Given the description of an element on the screen output the (x, y) to click on. 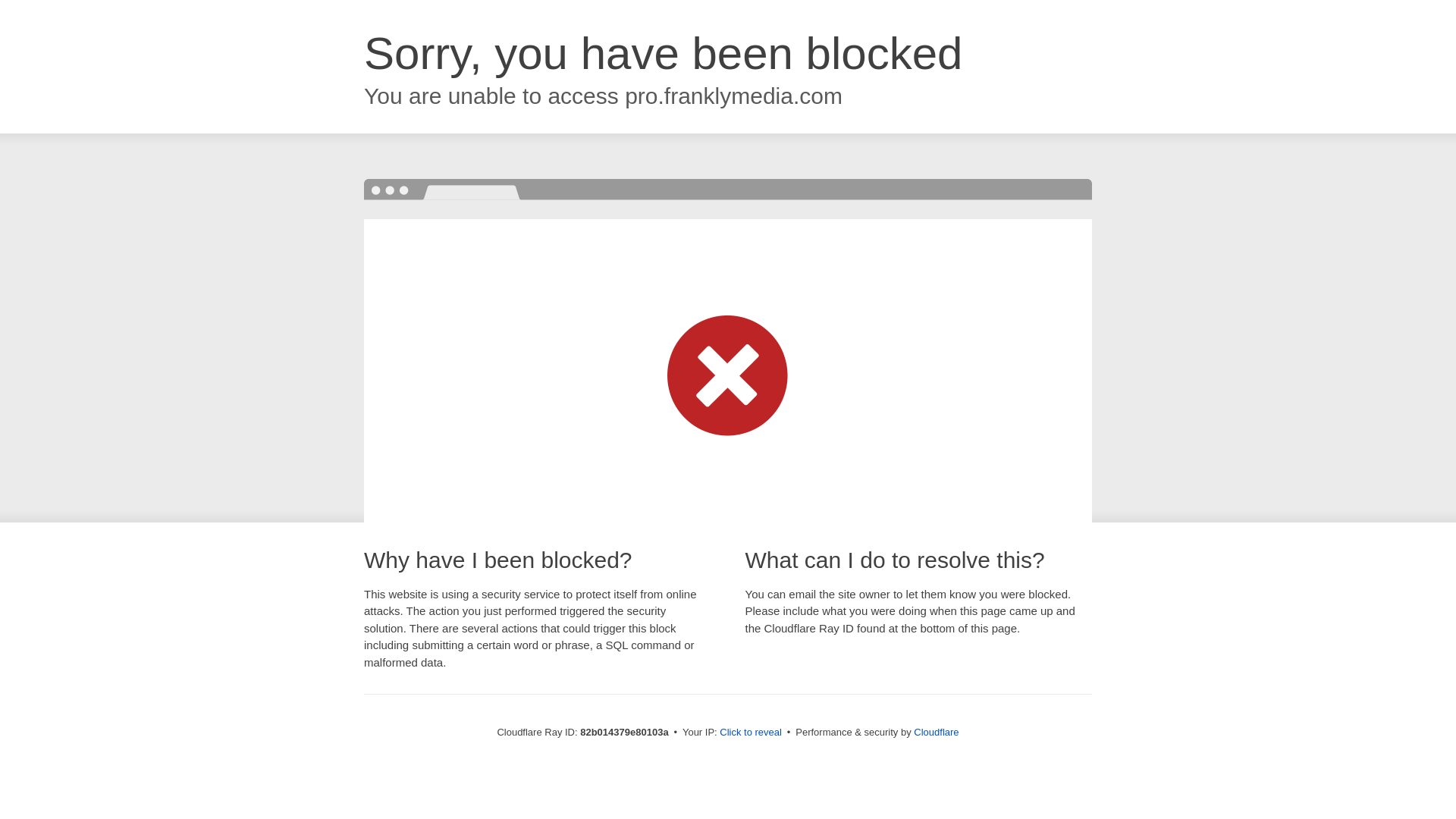
Click to reveal Element type: text (750, 732)
Cloudflare Element type: text (935, 731)
